Given the description of an element on the screen output the (x, y) to click on. 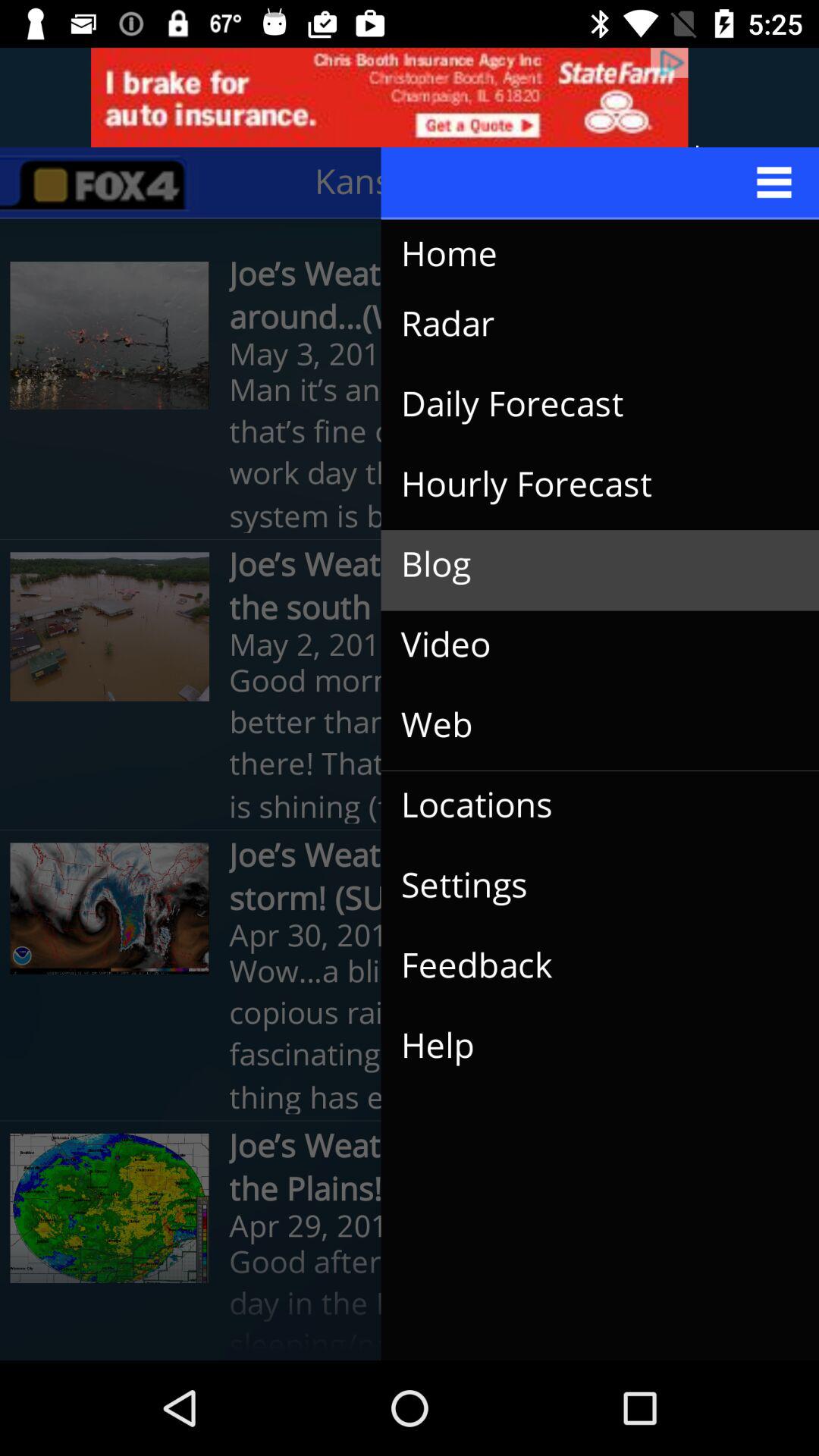
jump to home icon (584, 254)
